Given the description of an element on the screen output the (x, y) to click on. 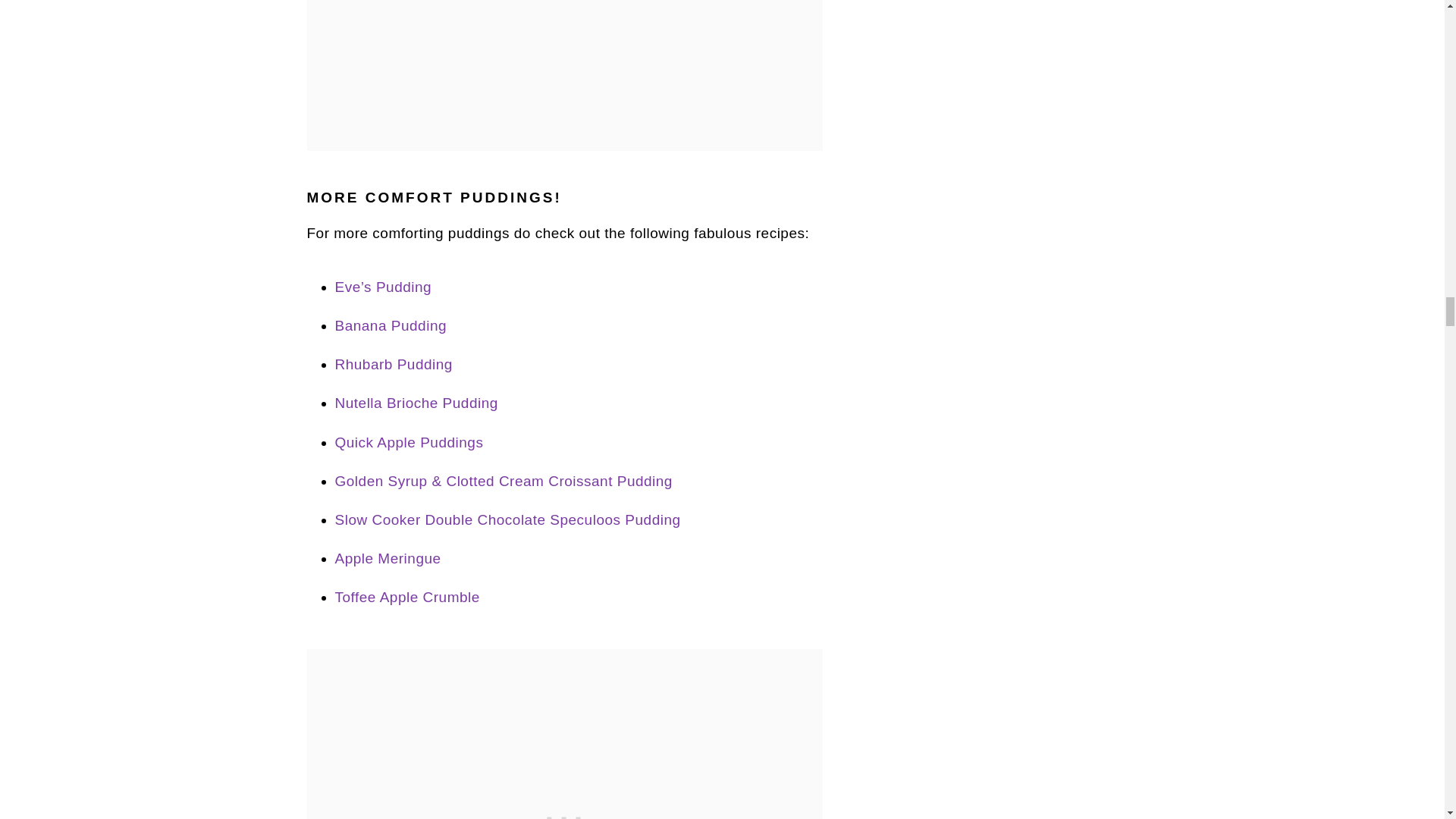
Slow Cooker Double Chocolate Speculoos Pudding (507, 519)
Banana Pudding (390, 325)
Rhubarb Pudding (393, 364)
Apple Meringue (387, 558)
Toffee Apple Crumble (407, 596)
Nutella Brioche Pudding (415, 402)
Quick Apple Puddings (408, 442)
